Given the description of an element on the screen output the (x, y) to click on. 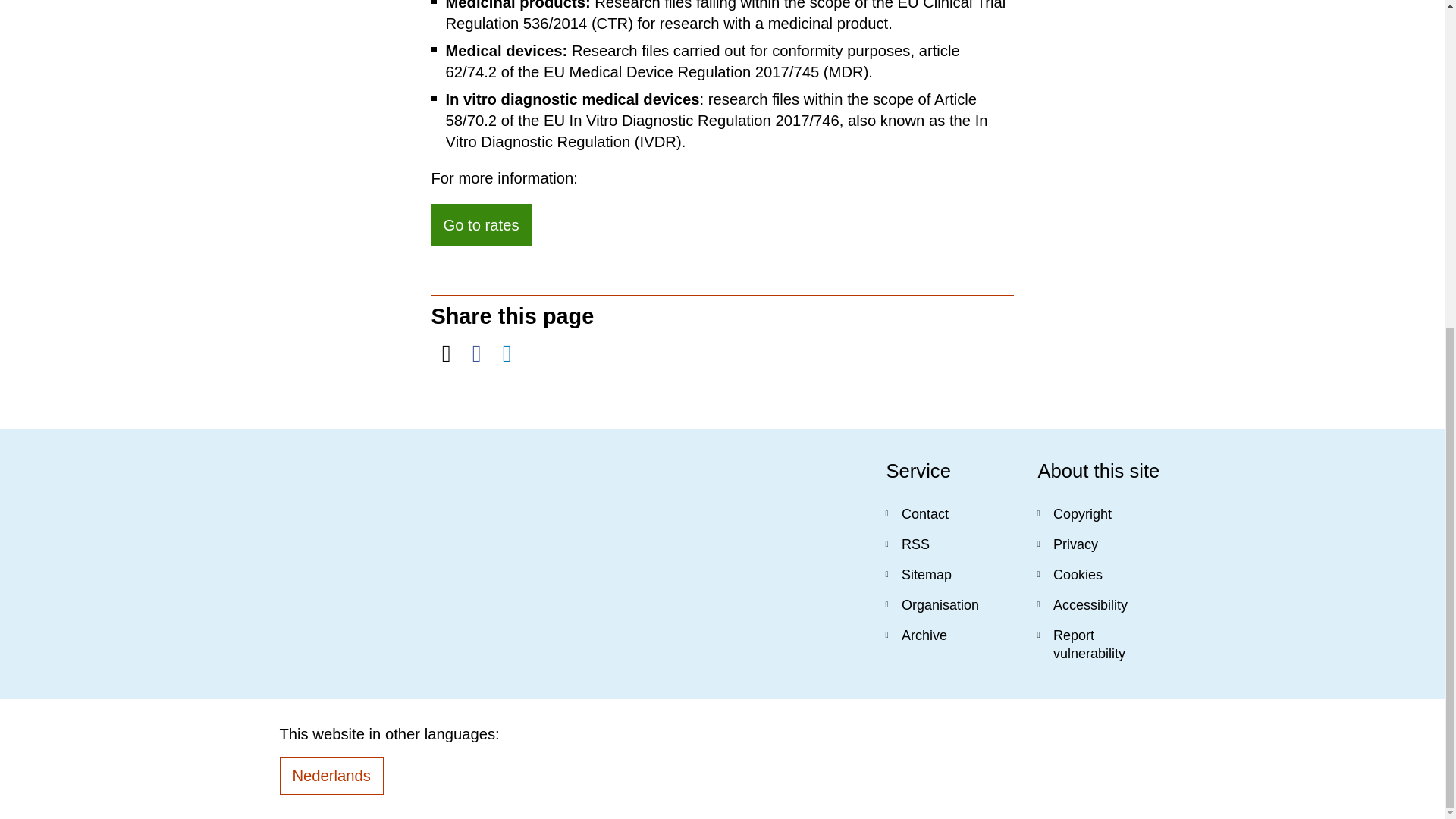
Share this page on your Twitter account (445, 353)
Contact (949, 513)
Sitemap (949, 574)
Copyright (1100, 513)
Go to rates (480, 224)
Privacy (1100, 544)
Cookies (1100, 574)
Nederlands (330, 775)
Accessibility (1100, 604)
Organisation (949, 604)
